Given the description of an element on the screen output the (x, y) to click on. 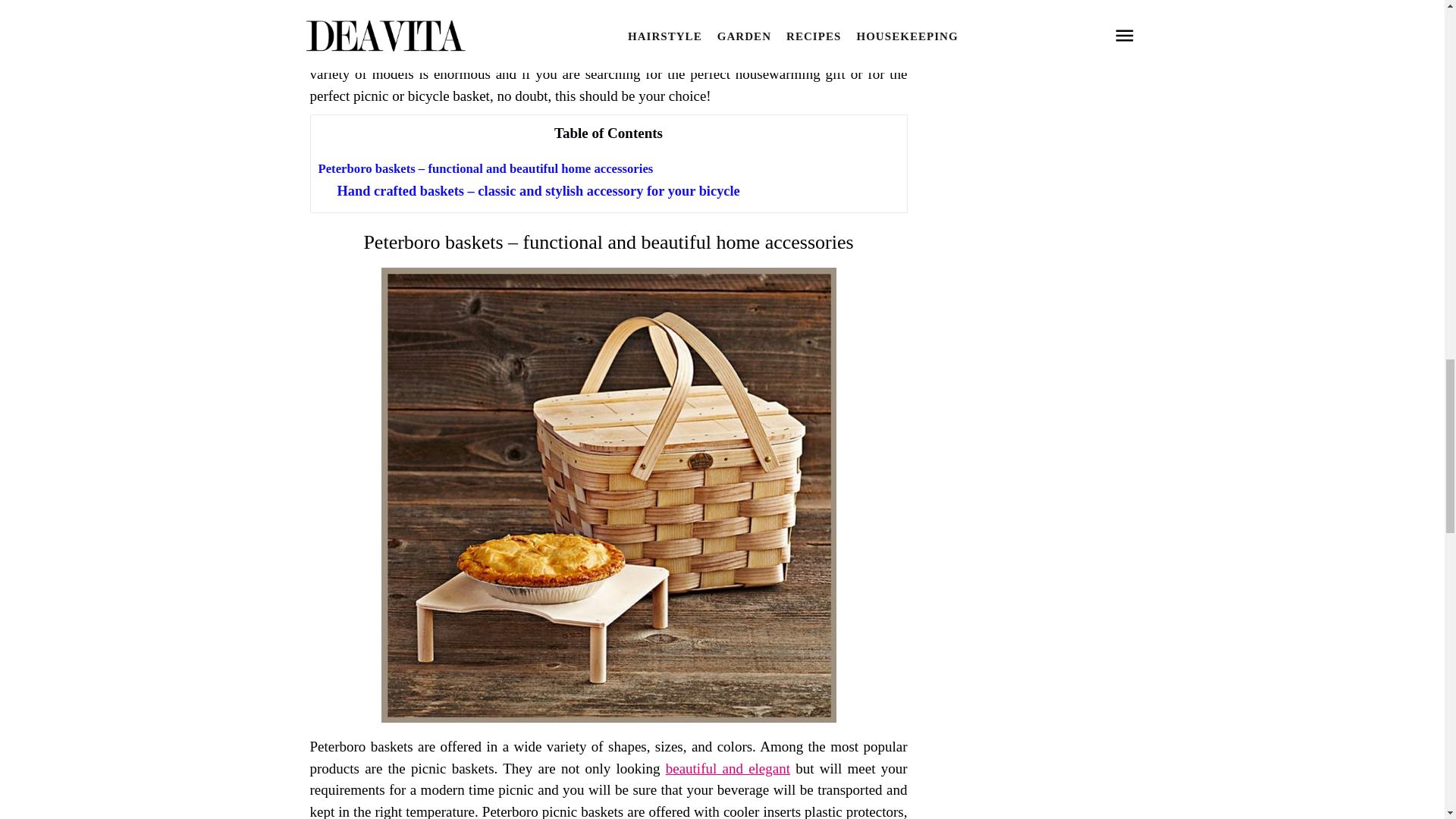
Petrboro-baskets-hand-crafted-picnic -askets (607, 717)
25 Kitchen pantry cabinet ideas for a well-organized kitchen (727, 768)
